Given the description of an element on the screen output the (x, y) to click on. 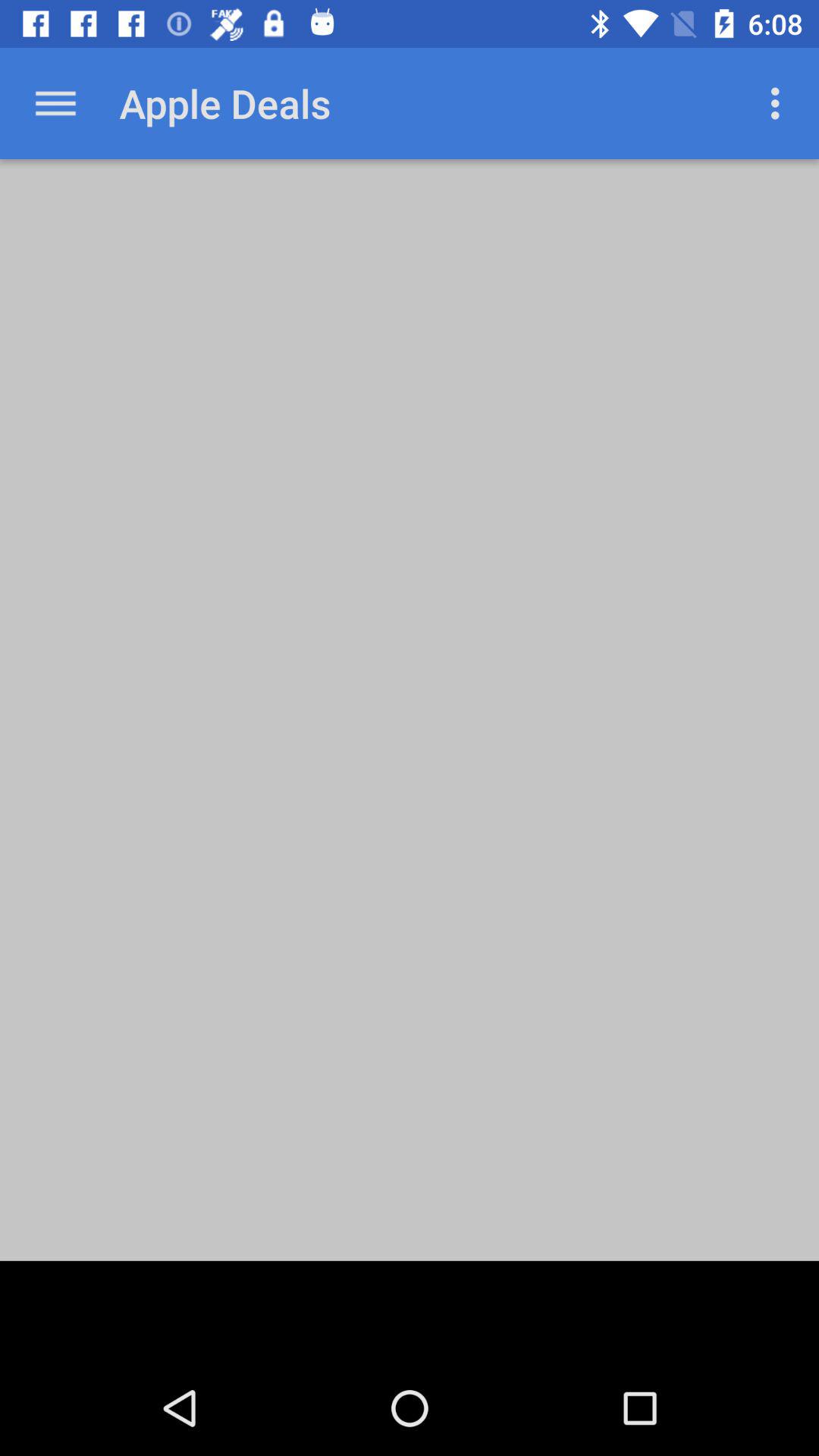
turn on app to the left of apple deals item (55, 103)
